Given the description of an element on the screen output the (x, y) to click on. 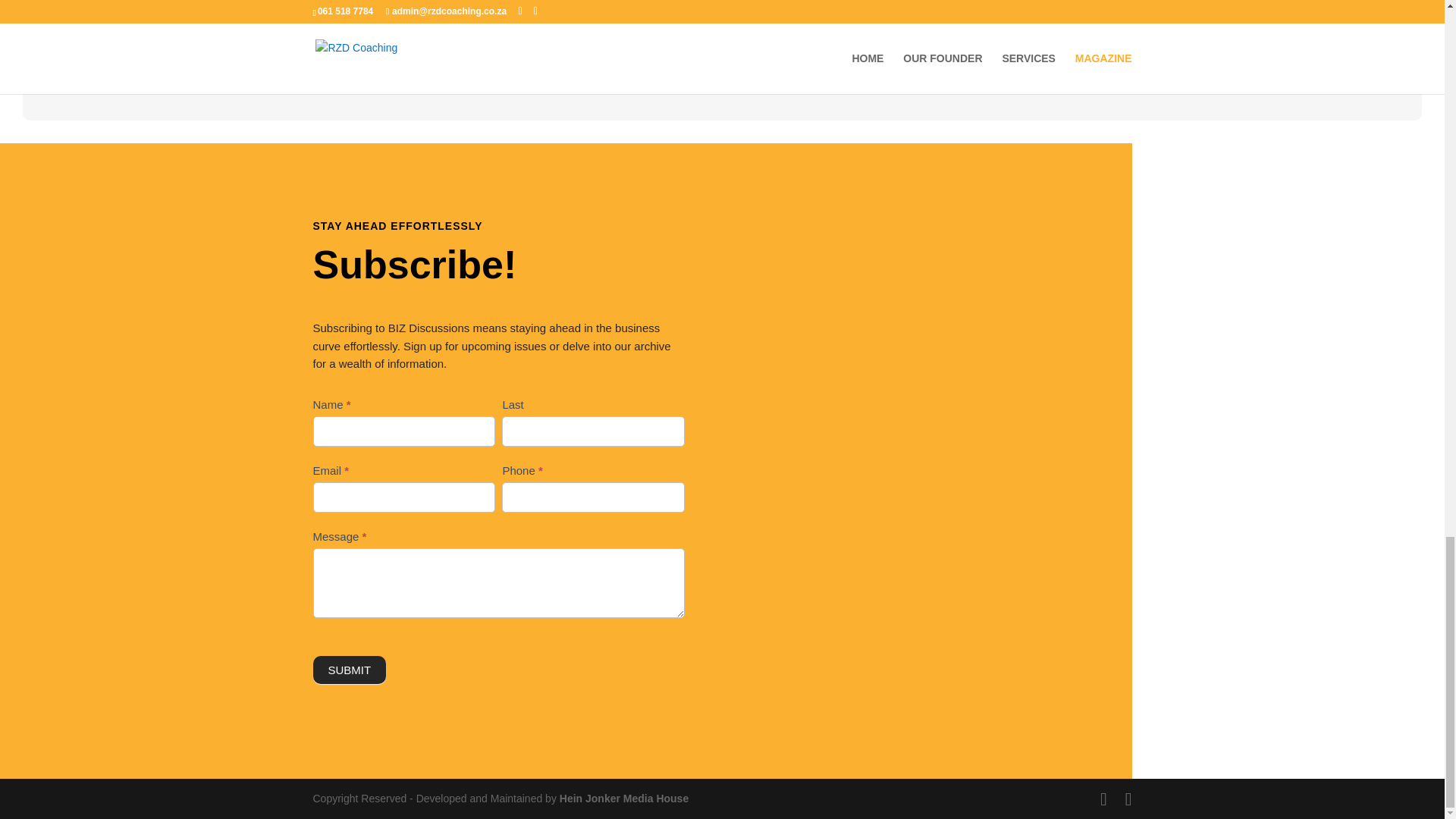
SUBMIT (349, 669)
Hein Jonker Media House (623, 798)
Business-Discussions (505, 4)
LEARN MORE (809, 59)
